Given the description of an element on the screen output the (x, y) to click on. 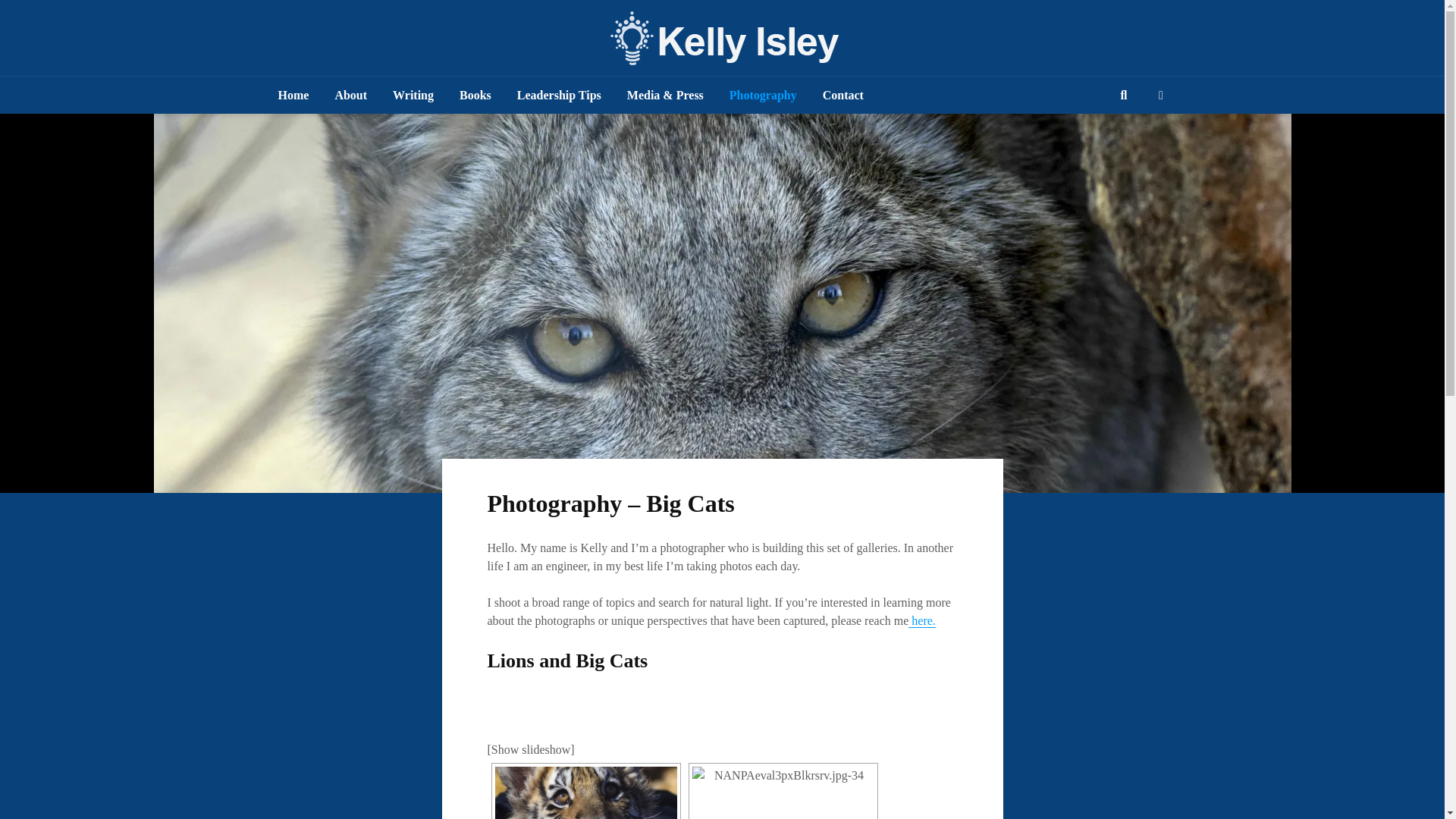
Writing (413, 95)
Leadership Tips (558, 95)
About (350, 95)
Photography (762, 95)
NANPAeval3pxBlkrsrv.jpg-33 (586, 792)
Contact (842, 95)
Home (293, 95)
NANPAeval3pxBlkrsrv.jpg-34 (782, 792)
here. (922, 621)
Books (475, 95)
